Given the description of an element on the screen output the (x, y) to click on. 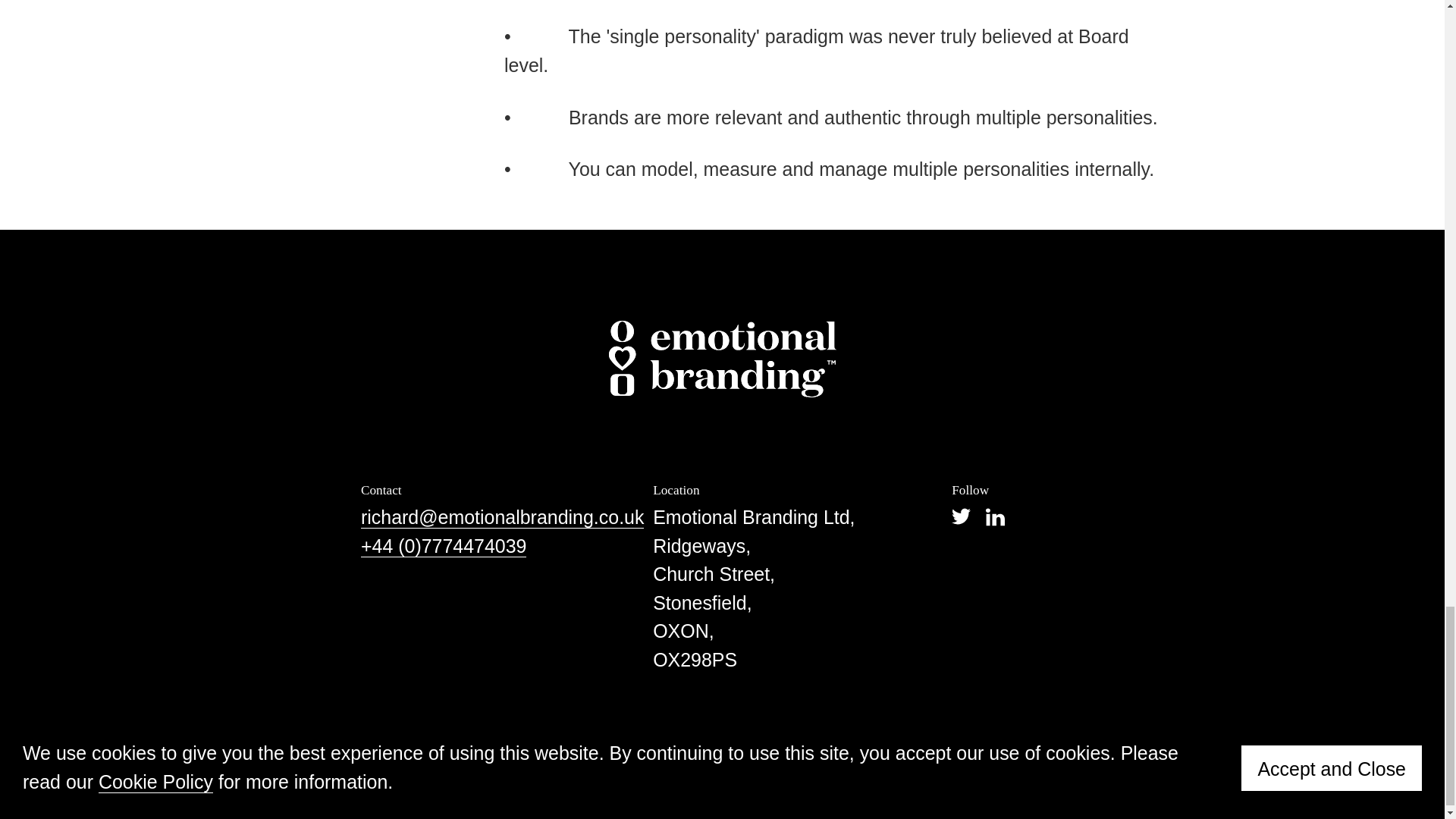
Privacy Policy (580, 724)
Cookie Policy (676, 724)
Follow us on LinkedIn (994, 516)
Follow us on Twitter (961, 516)
